Given the description of an element on the screen output the (x, y) to click on. 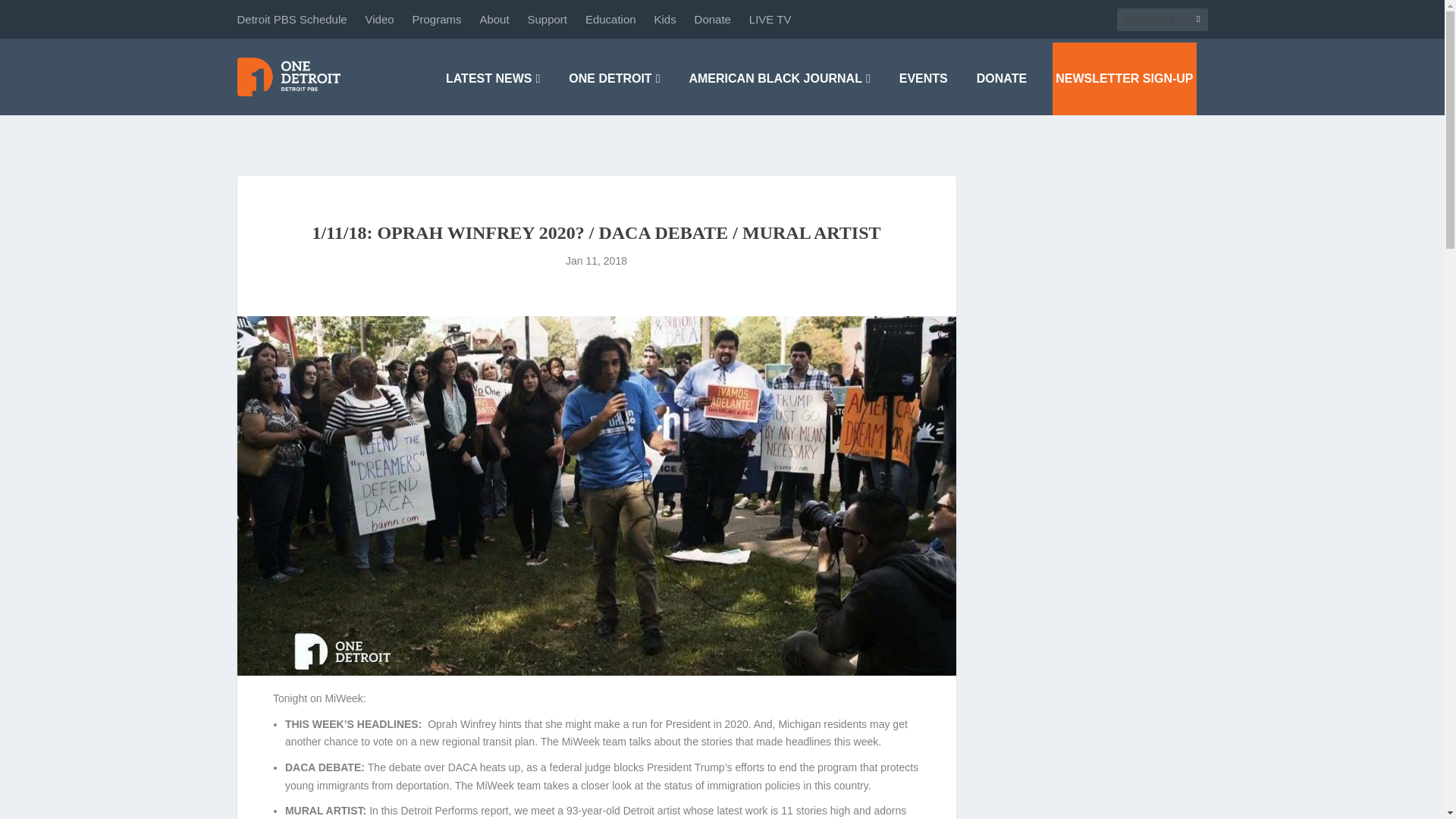
Support (547, 19)
LATEST NEWS (492, 78)
NEWSLETTER SIGN-UP (1123, 78)
LIVE TV (770, 19)
Detroit PBS Schedule (290, 19)
Search for: (1161, 18)
Education (610, 19)
AMERICAN BLACK JOURNAL (778, 78)
Programs (436, 19)
ONE DETROIT (614, 78)
